Given the description of an element on the screen output the (x, y) to click on. 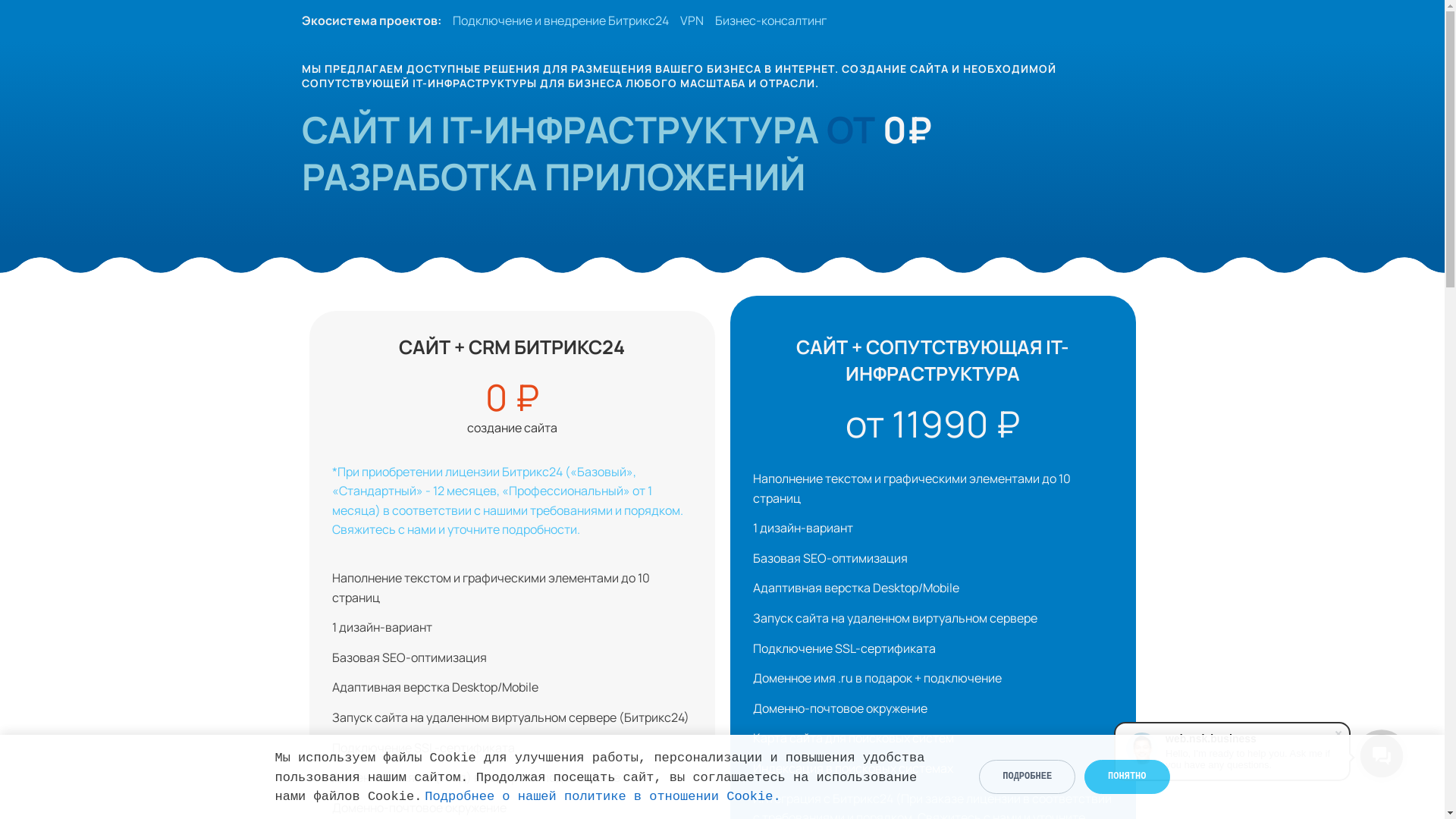
VPN Element type: text (690, 20)
